Given the description of an element on the screen output the (x, y) to click on. 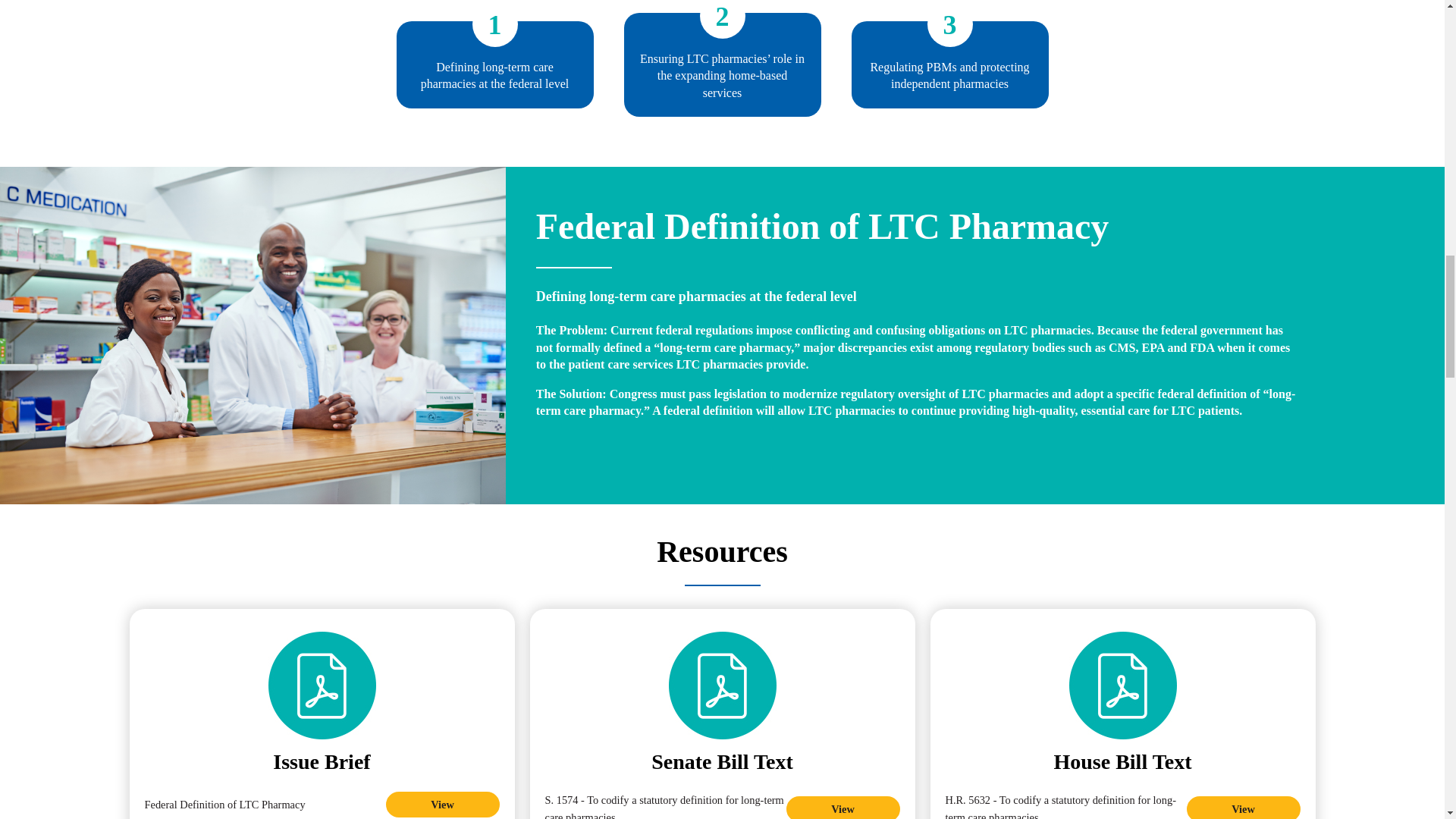
View (1243, 807)
View (442, 804)
View (842, 807)
